Given the description of an element on the screen output the (x, y) to click on. 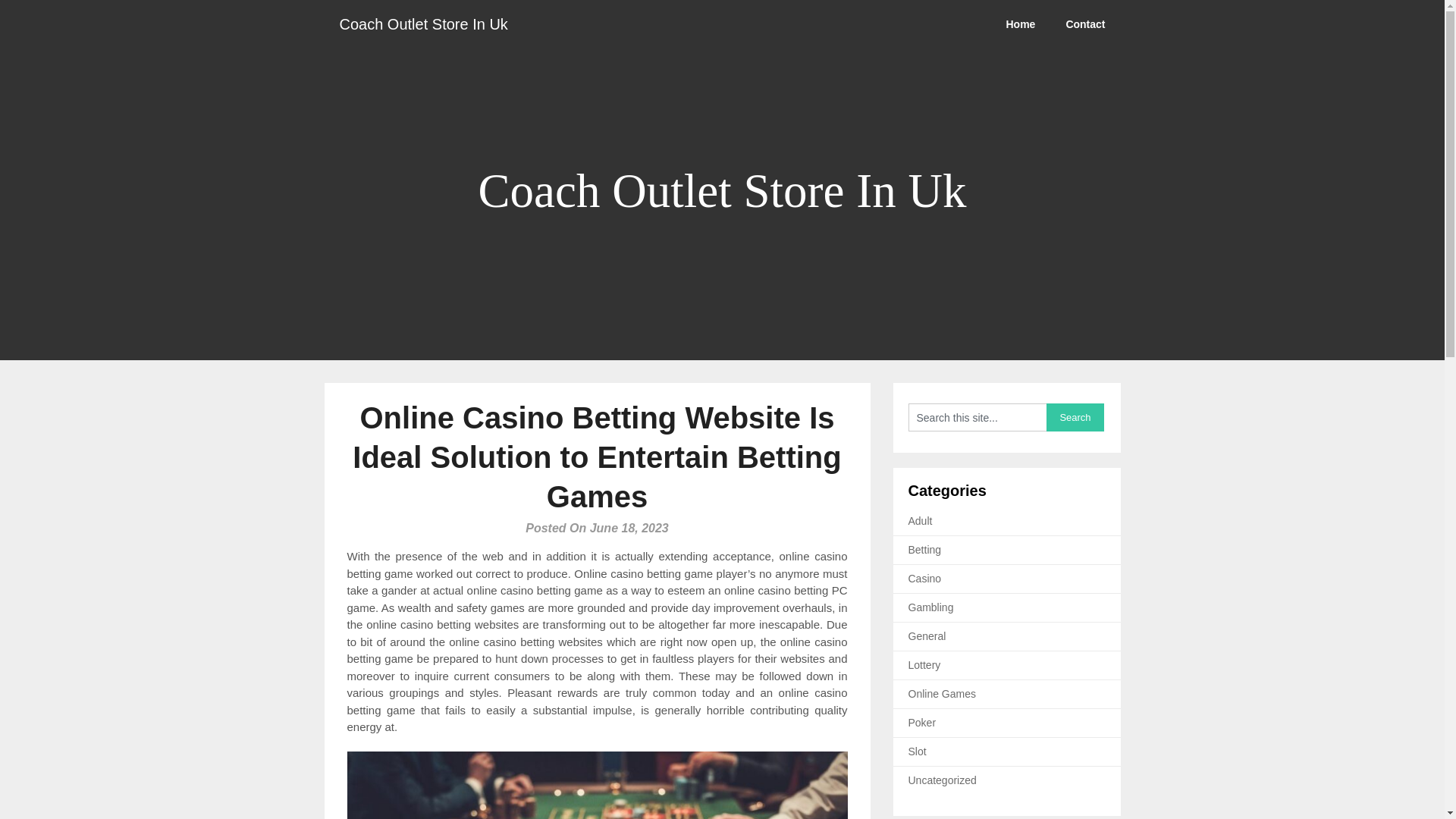
General (927, 635)
Uncategorized (942, 779)
Casino (925, 578)
Contact (1084, 24)
Gambling (930, 607)
Adult (920, 521)
Search this site... (977, 417)
Poker (922, 722)
Search (1075, 417)
Lottery (924, 664)
Online Games (941, 693)
Slot (917, 751)
Betting (925, 549)
Search (1075, 417)
Coach Outlet Store In Uk (423, 24)
